Given the description of an element on the screen output the (x, y) to click on. 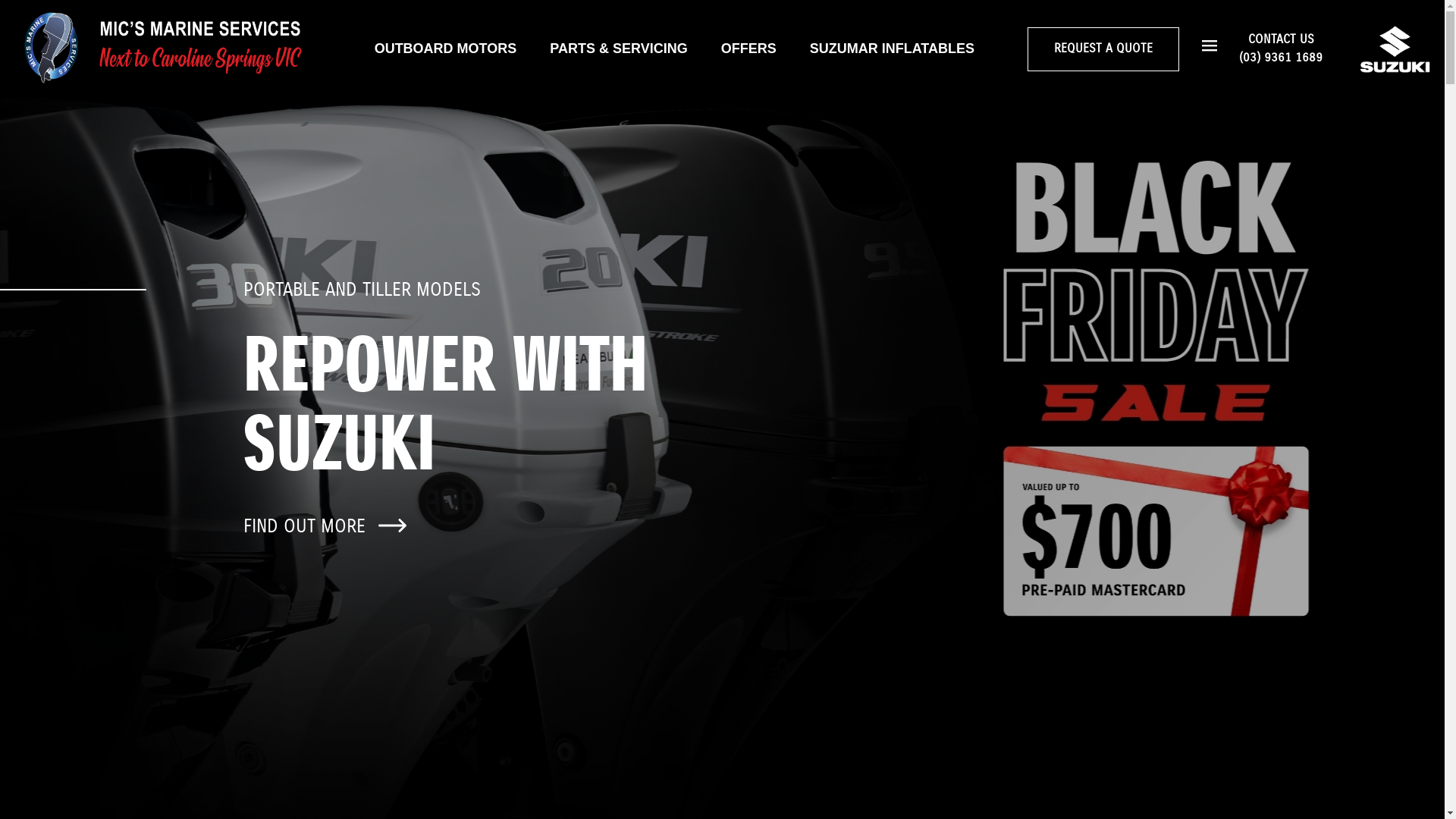
SUZUMAR INFLATABLES Element type: text (891, 48)
PARTS & SERVICING Element type: text (618, 48)
CONTACT US Element type: text (1281, 39)
(03) 9361 1689 Element type: text (1280, 58)
Home page Element type: hover (162, 48)
REQUEST A QUOTE Element type: text (1103, 49)
OFFERS Element type: text (748, 48)
OUTBOARD MOTORS Element type: text (445, 48)
FIND OUT MORE Element type: text (326, 526)
